Given the description of an element on the screen output the (x, y) to click on. 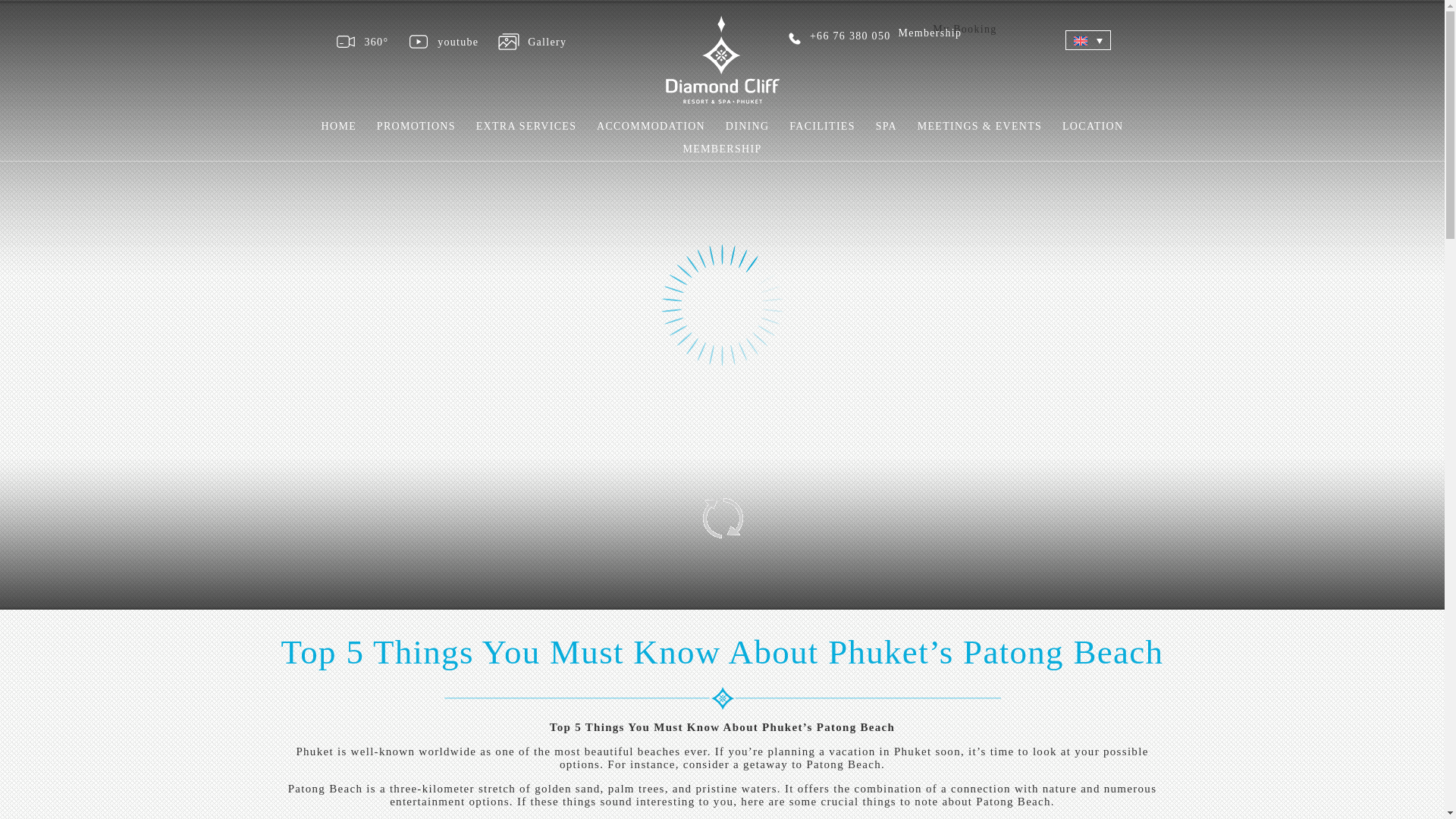
youtube (446, 42)
HOME (339, 126)
DINING (747, 126)
FACILITIES (822, 126)
MEMBERSHIP (721, 148)
My Booking (964, 29)
PROMOTIONS (416, 126)
LOCATION (1092, 126)
Gallery (535, 42)
SPA (885, 126)
